Given the description of an element on the screen output the (x, y) to click on. 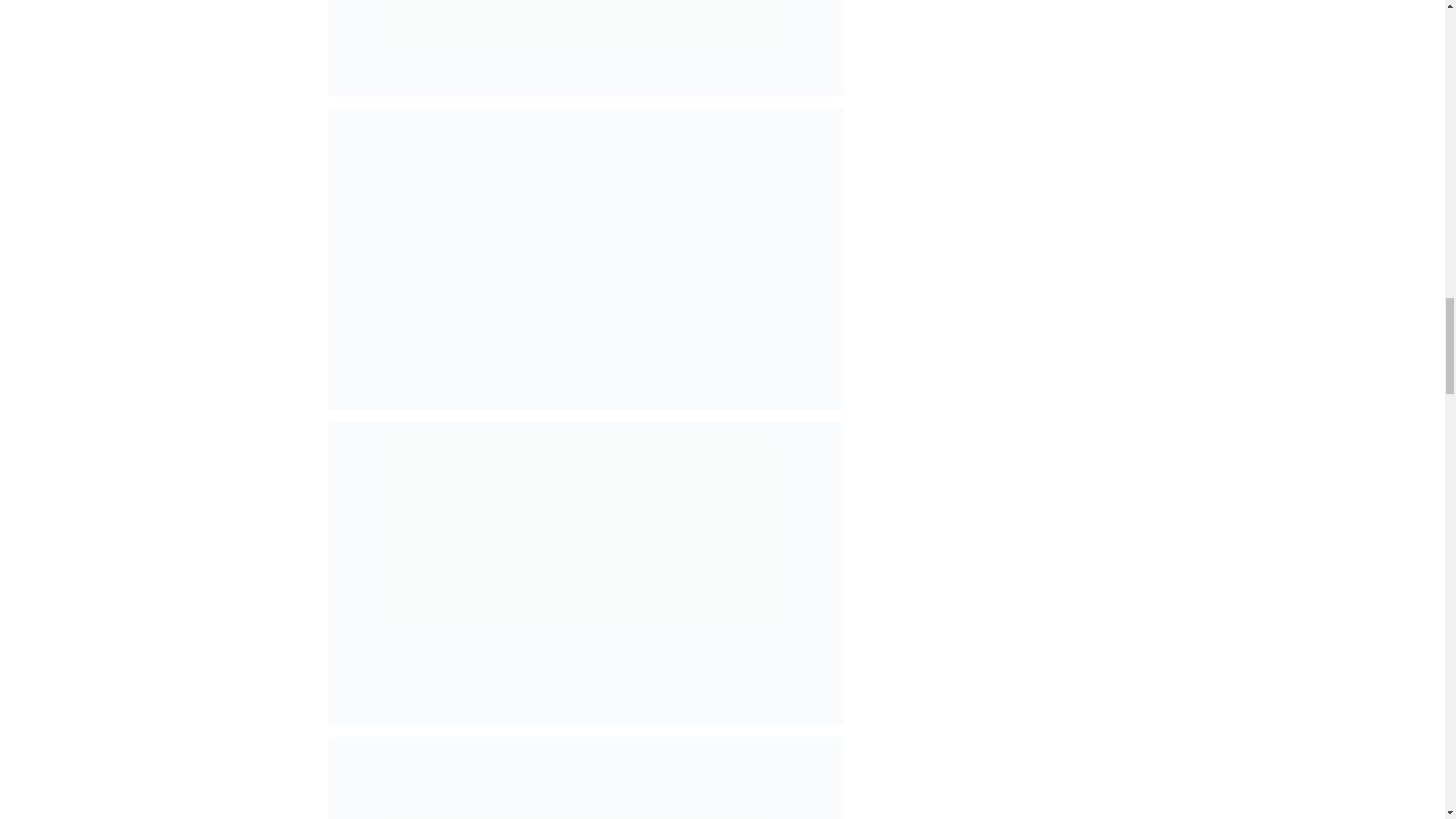
You were born an original. Don't die a copy. - John Mason (585, 778)
